Given the description of an element on the screen output the (x, y) to click on. 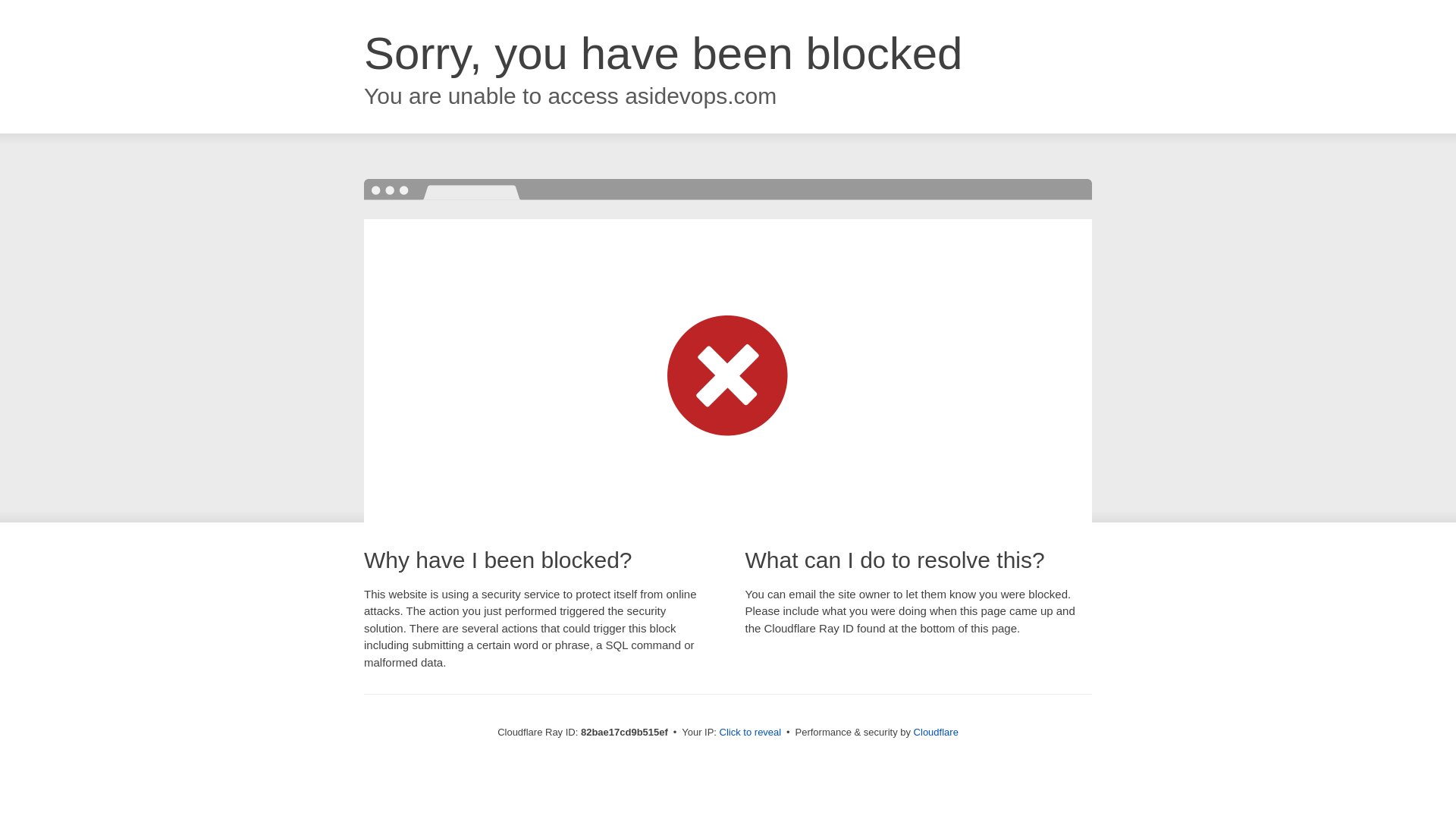
Click to reveal Element type: text (750, 732)
Cloudflare Element type: text (935, 731)
